Given the description of an element on the screen output the (x, y) to click on. 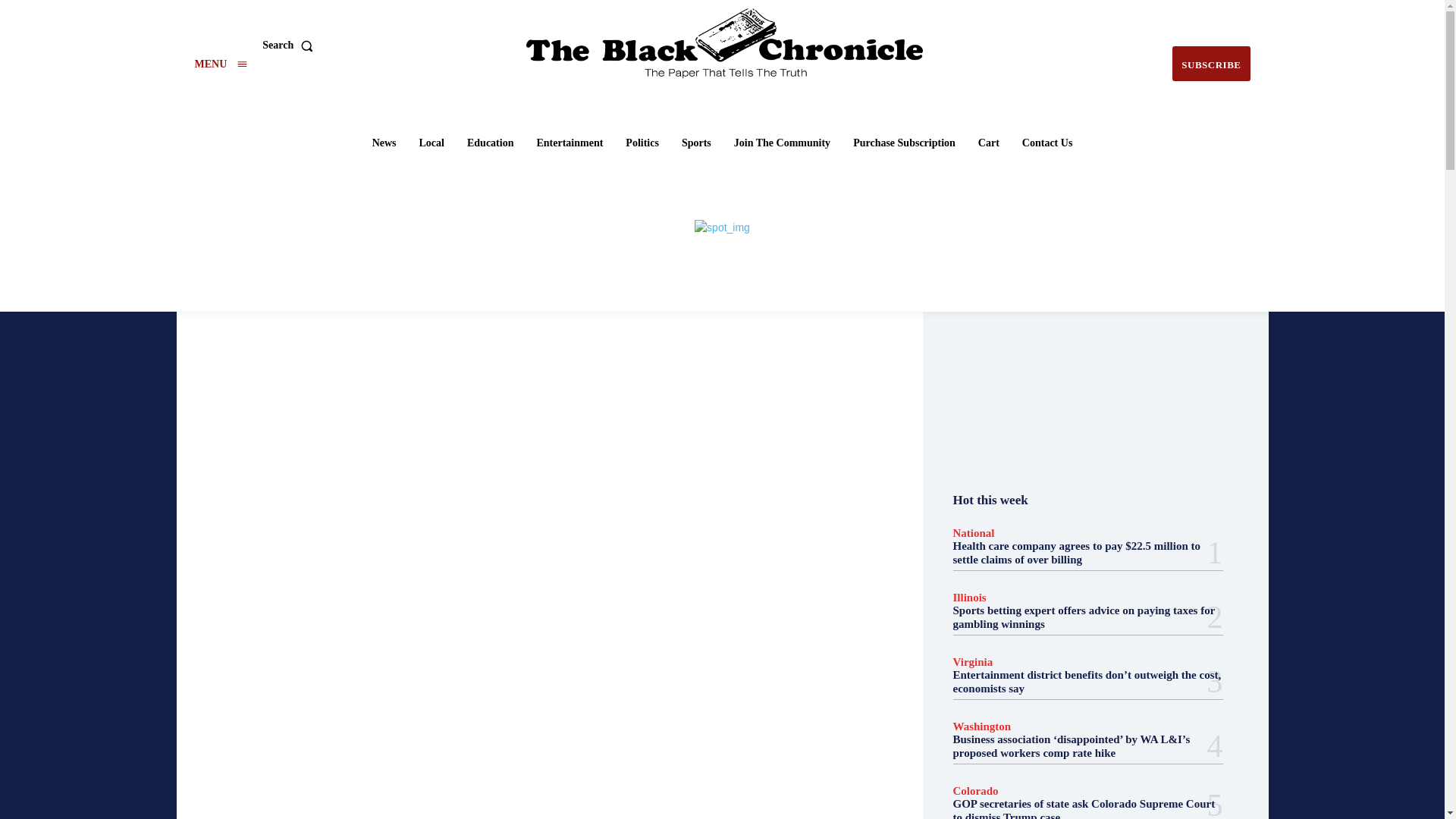
Subscribe (1210, 63)
Menu (220, 63)
The Black Chronicle (724, 43)
